Given the description of an element on the screen output the (x, y) to click on. 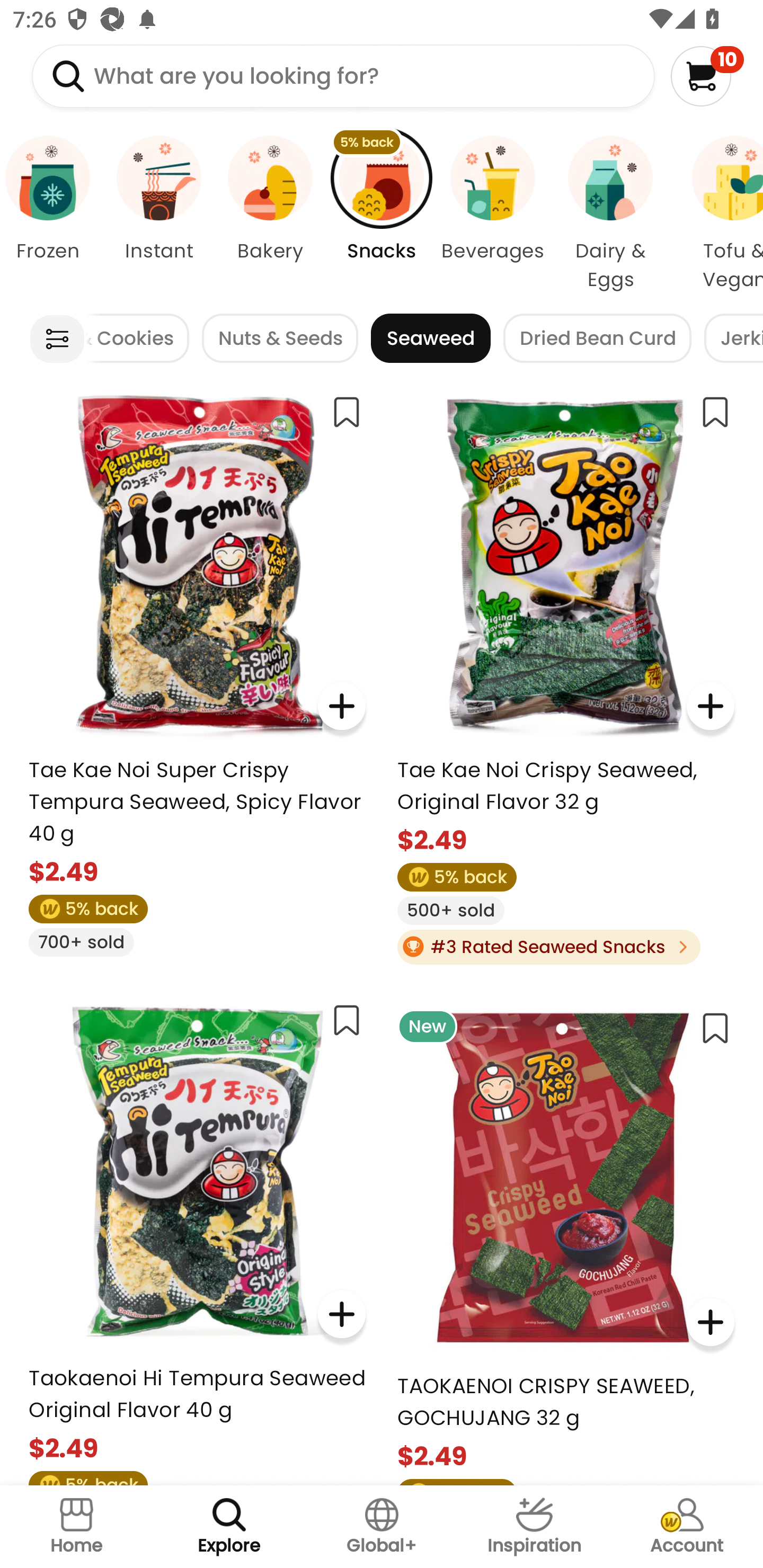
What are you looking for? (343, 75)
10 (706, 75)
Frozen (51, 214)
Instant (158, 214)
Bakery (269, 214)
5% back Snacks (381, 214)
Beverages (492, 214)
Dairy & Eggs (610, 214)
Tofu & Vegan (717, 214)
Crackers & Cookies (137, 337)
Nuts & Seeds (279, 337)
Seaweed (430, 337)
Dried Bean Curd (597, 337)
